Given the description of an element on the screen output the (x, y) to click on. 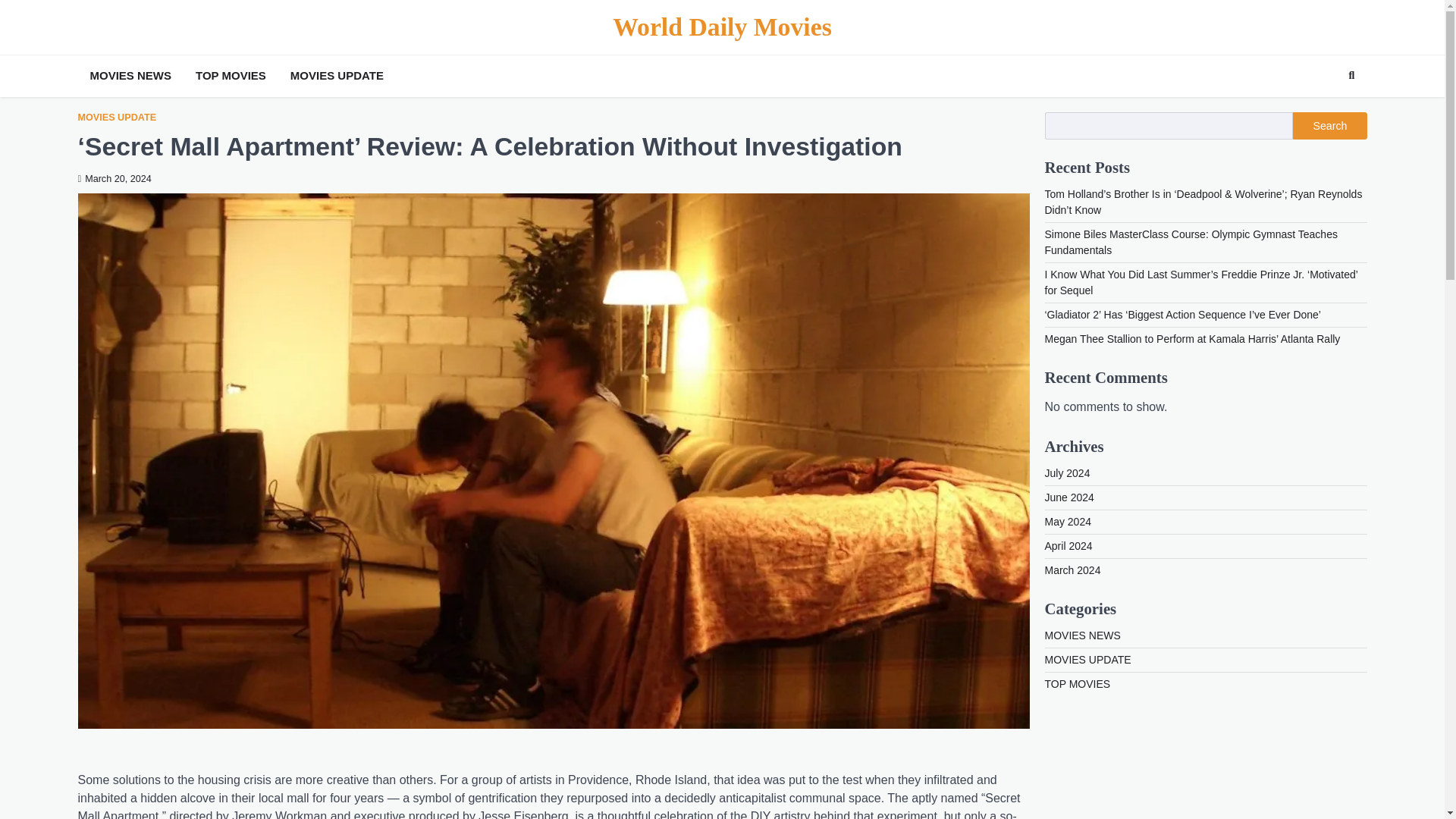
MOVIES NEWS (129, 76)
July 2024 (1067, 472)
March 2024 (1072, 570)
World Daily Movies (721, 26)
Search (1323, 111)
MOVIES NEWS (1083, 635)
March 20, 2024 (114, 178)
May 2024 (1067, 521)
MOVIES UPDATE (336, 76)
Search (1329, 125)
TOP MOVIES (1077, 684)
April 2024 (1069, 545)
MOVIES UPDATE (116, 117)
TOP MOVIES (230, 76)
